Given the description of an element on the screen output the (x, y) to click on. 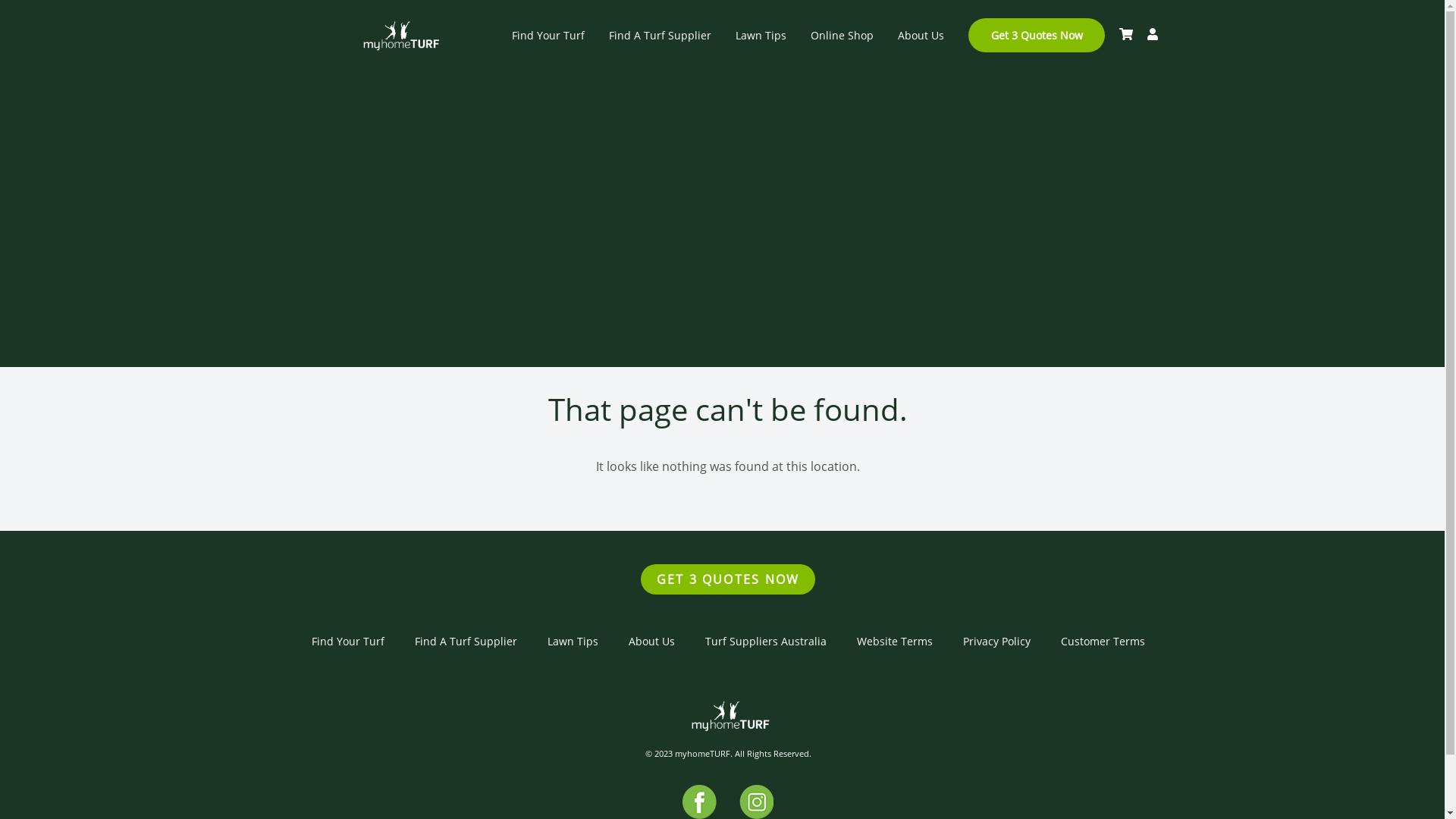
Find A Turf Supplier Element type: text (465, 640)
Find A Turf Supplier Element type: text (659, 35)
Find Your Turf Element type: text (346, 640)
Website Terms Element type: text (894, 640)
Customer Terms Element type: text (1102, 640)
Find Your Turf Element type: text (547, 35)
Privacy Policy Element type: text (996, 640)
Lawn Tips Element type: text (760, 35)
Get 3 Quotes Now Element type: text (1036, 35)
Online Shop Element type: text (841, 35)
About Us Element type: text (920, 35)
Turf Suppliers Australia Element type: text (765, 640)
GET 3 QUOTES NOW Element type: text (727, 579)
Lawn Tips Element type: text (572, 640)
About Us Element type: text (650, 640)
